Given the description of an element on the screen output the (x, y) to click on. 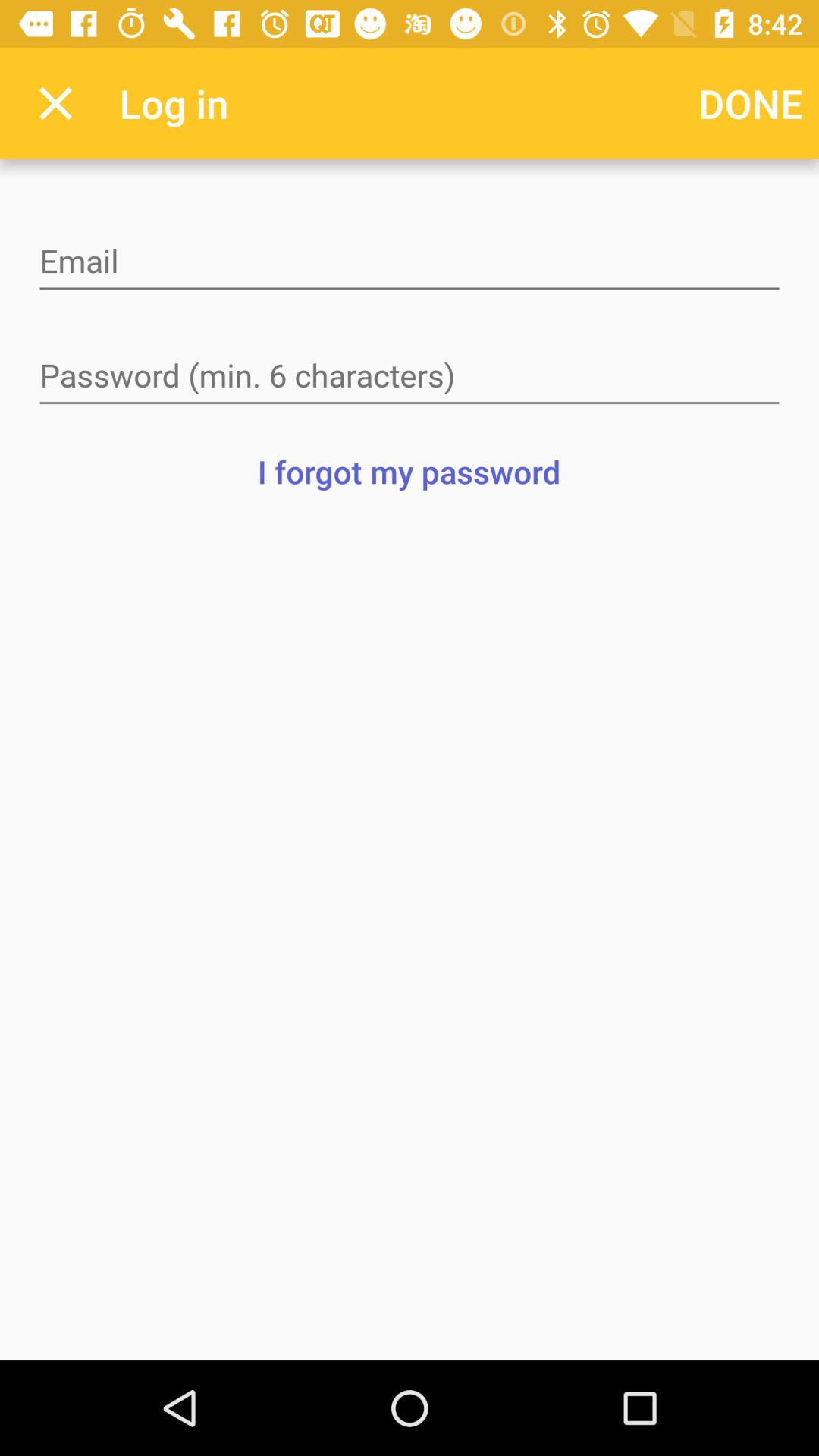
open the item next to the log in item (750, 103)
